Given the description of an element on the screen output the (x, y) to click on. 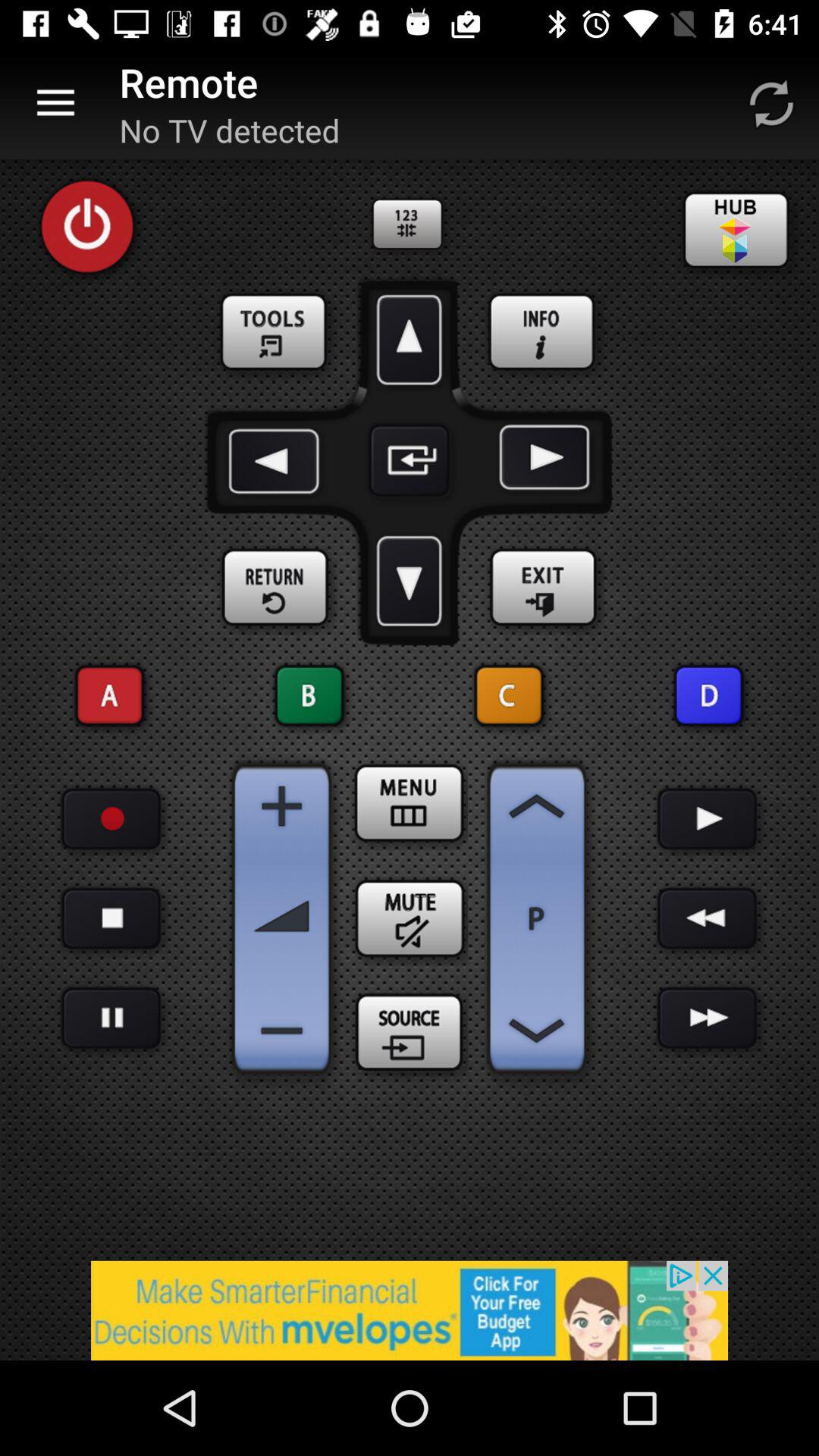
go to advertiment (409, 1310)
